Given the description of an element on the screen output the (x, y) to click on. 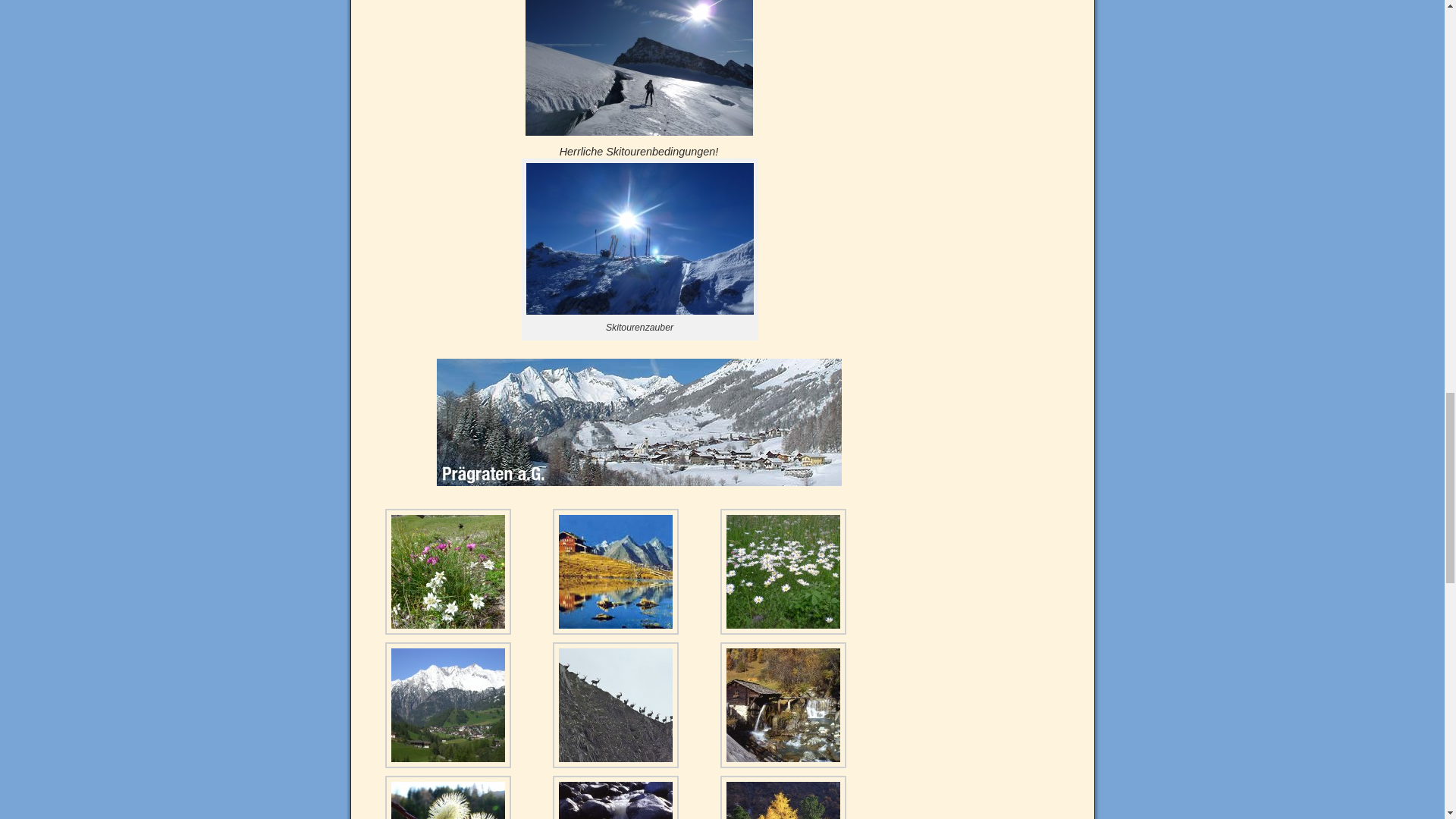
Schitourenzeit (638, 67)
